Given the description of an element on the screen output the (x, y) to click on. 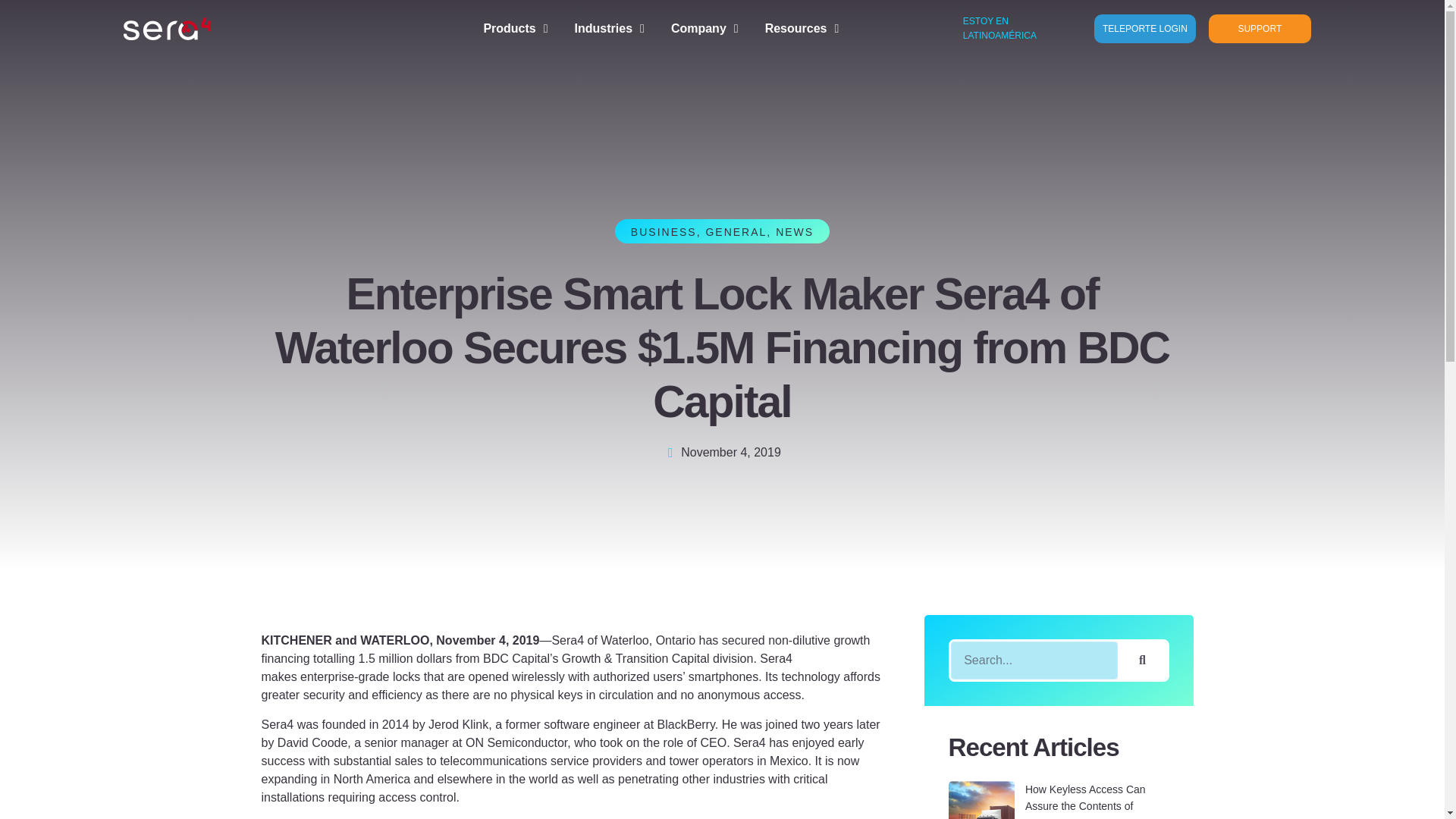
Resources (802, 28)
Industries (610, 28)
Sera4 Logo (165, 28)
SUPPORT (1259, 28)
Products (515, 28)
BUSINESS (663, 232)
GENERAL (735, 232)
November 4, 2019 (721, 452)
TELEPORTE LOGIN (1144, 28)
NEWS (794, 232)
Company (704, 28)
